Given the description of an element on the screen output the (x, y) to click on. 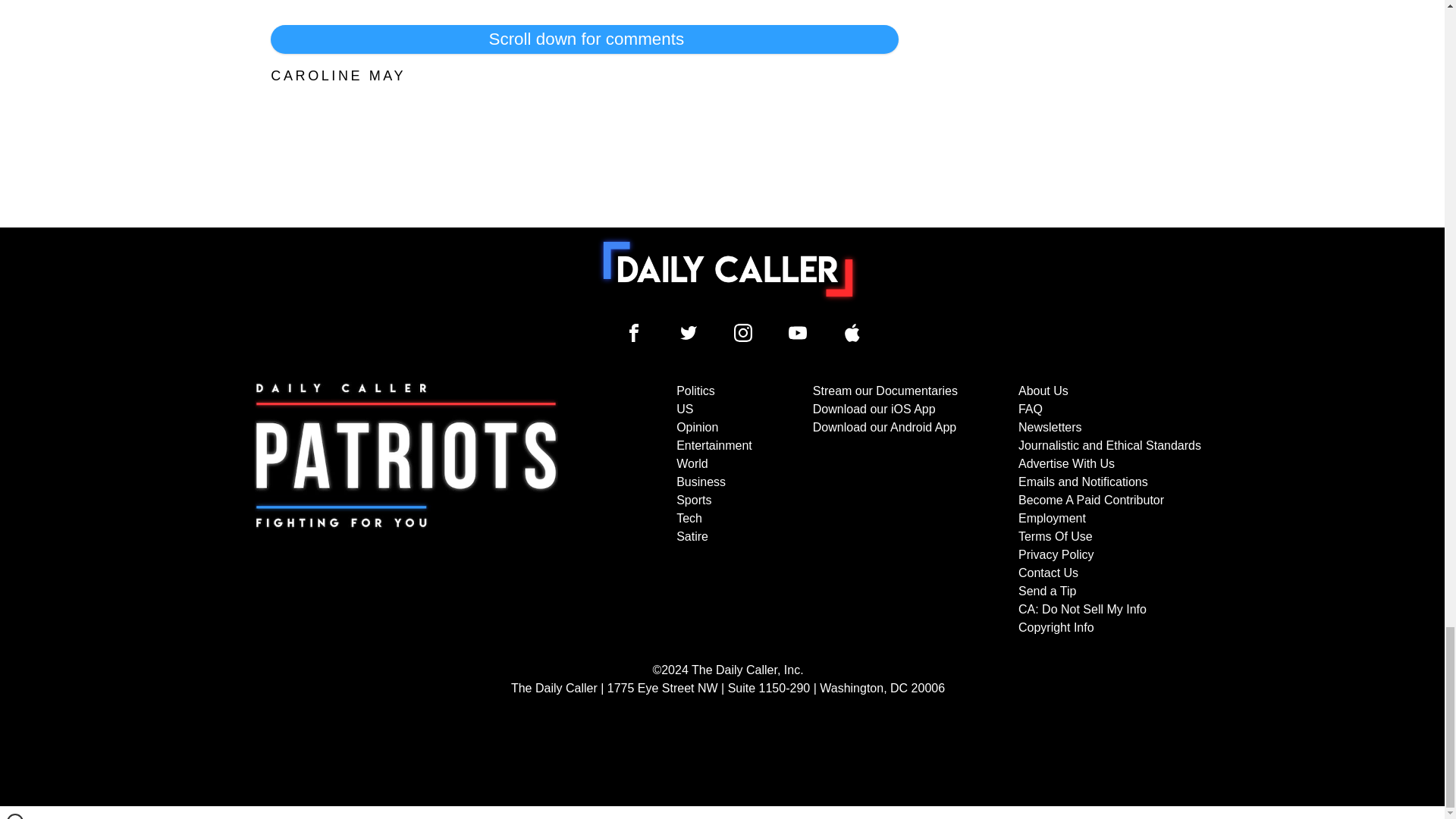
To home page (727, 268)
Scroll down for comments (584, 39)
